Given the description of an element on the screen output the (x, y) to click on. 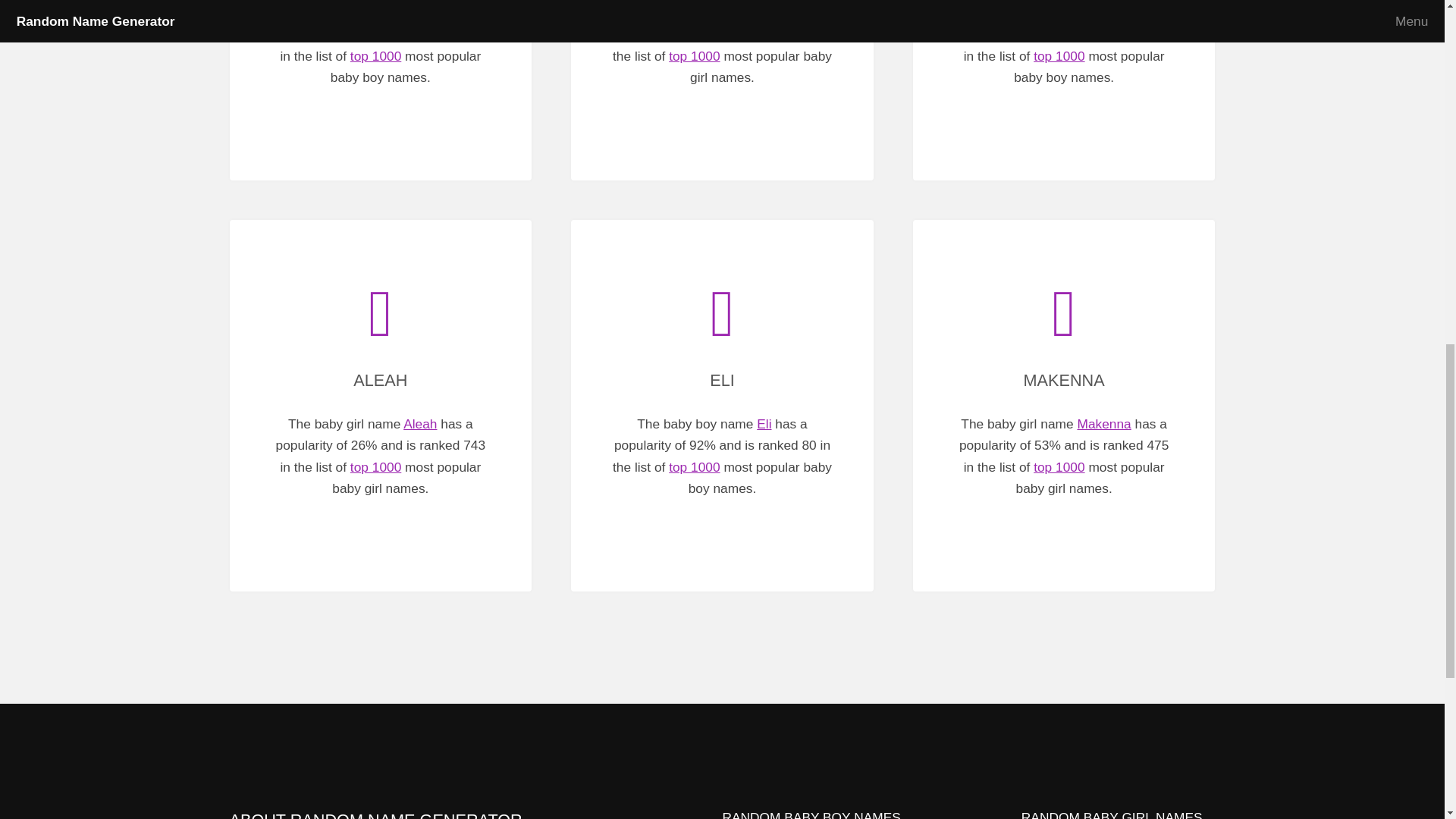
Natasha (762, 11)
Makenna (1104, 423)
Gian (422, 11)
top 1000 (693, 467)
Aleah (419, 423)
Eli (764, 423)
top 1000 (693, 55)
Semaj (1105, 11)
top 1000 (1058, 55)
top 1000 (375, 467)
